Given the description of an element on the screen output the (x, y) to click on. 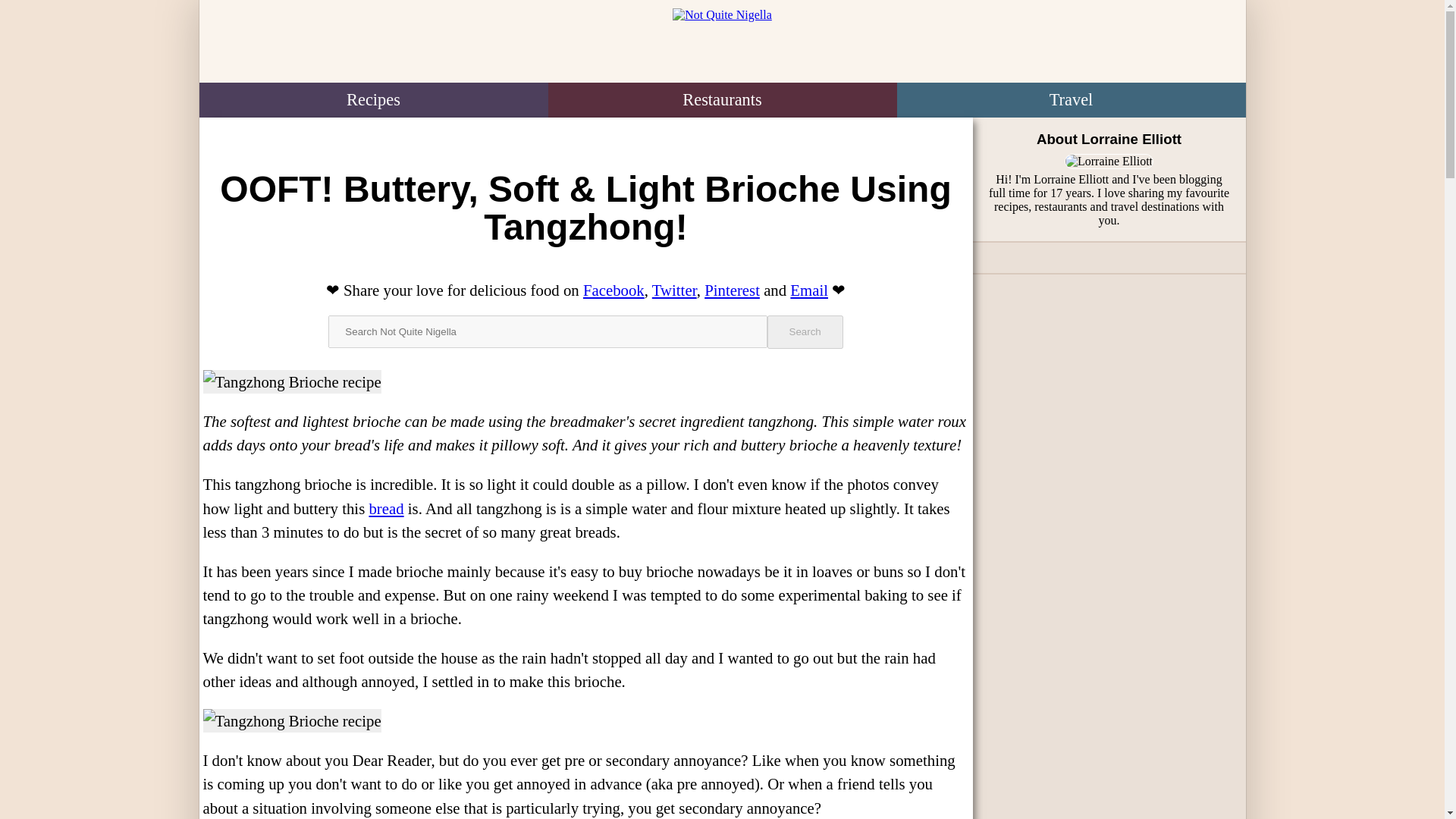
Not Quite Nigella (721, 44)
Tweet (674, 289)
Pin it (732, 289)
Facebook (614, 289)
Email (809, 289)
Recipes (372, 99)
Twitter (674, 289)
bread (385, 507)
Travel (1070, 99)
Share on Facebook (614, 289)
Pinterest (732, 289)
Search (805, 331)
delicious food (513, 289)
Search (805, 331)
Email (809, 289)
